Given the description of an element on the screen output the (x, y) to click on. 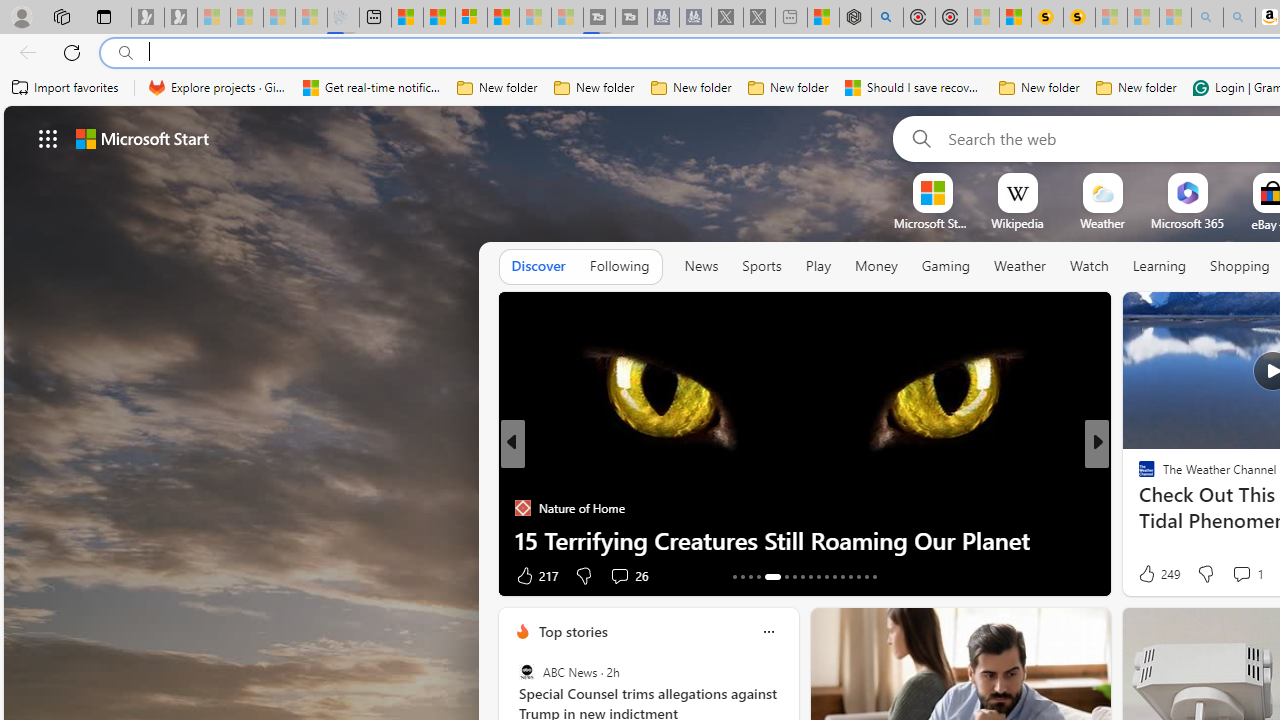
AutomationID: tab-13 (733, 576)
60 Like (1149, 574)
217 Like (535, 574)
Class: control (47, 138)
Newsletter Sign Up - Sleeping (181, 17)
View comments 1 Comment (1241, 573)
View comments 3 Comment (1241, 574)
AutomationID: tab-23 (825, 576)
AutomationID: tab-22 (818, 576)
